Given the description of an element on the screen output the (x, y) to click on. 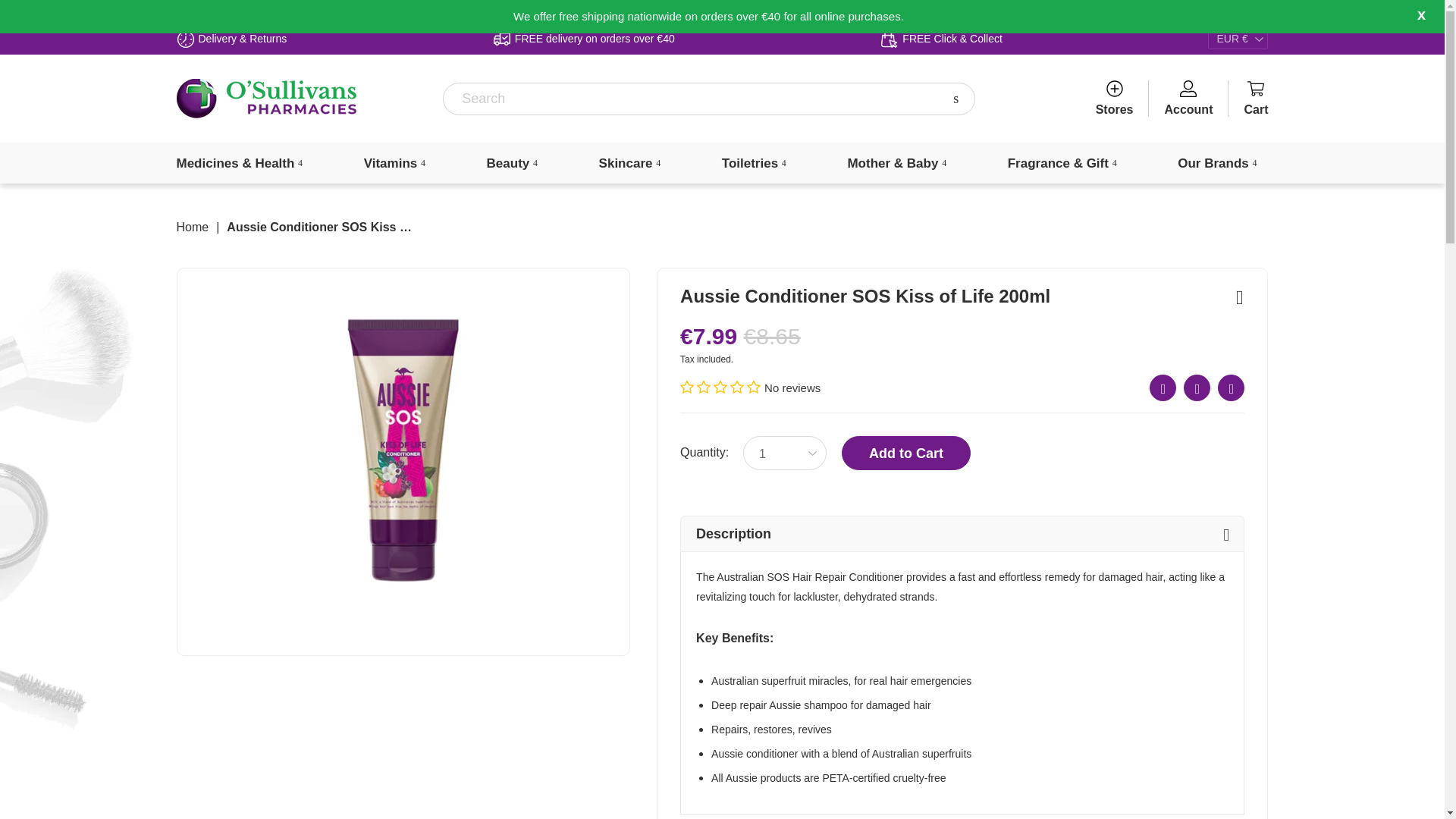
Search (956, 97)
Account (1187, 98)
Share on Facebook (1163, 387)
Back to the frontpage (192, 227)
Stores (1115, 98)
Tweet on Twitter (1196, 387)
Pin on Pinterest (1230, 387)
